Given the description of an element on the screen output the (x, y) to click on. 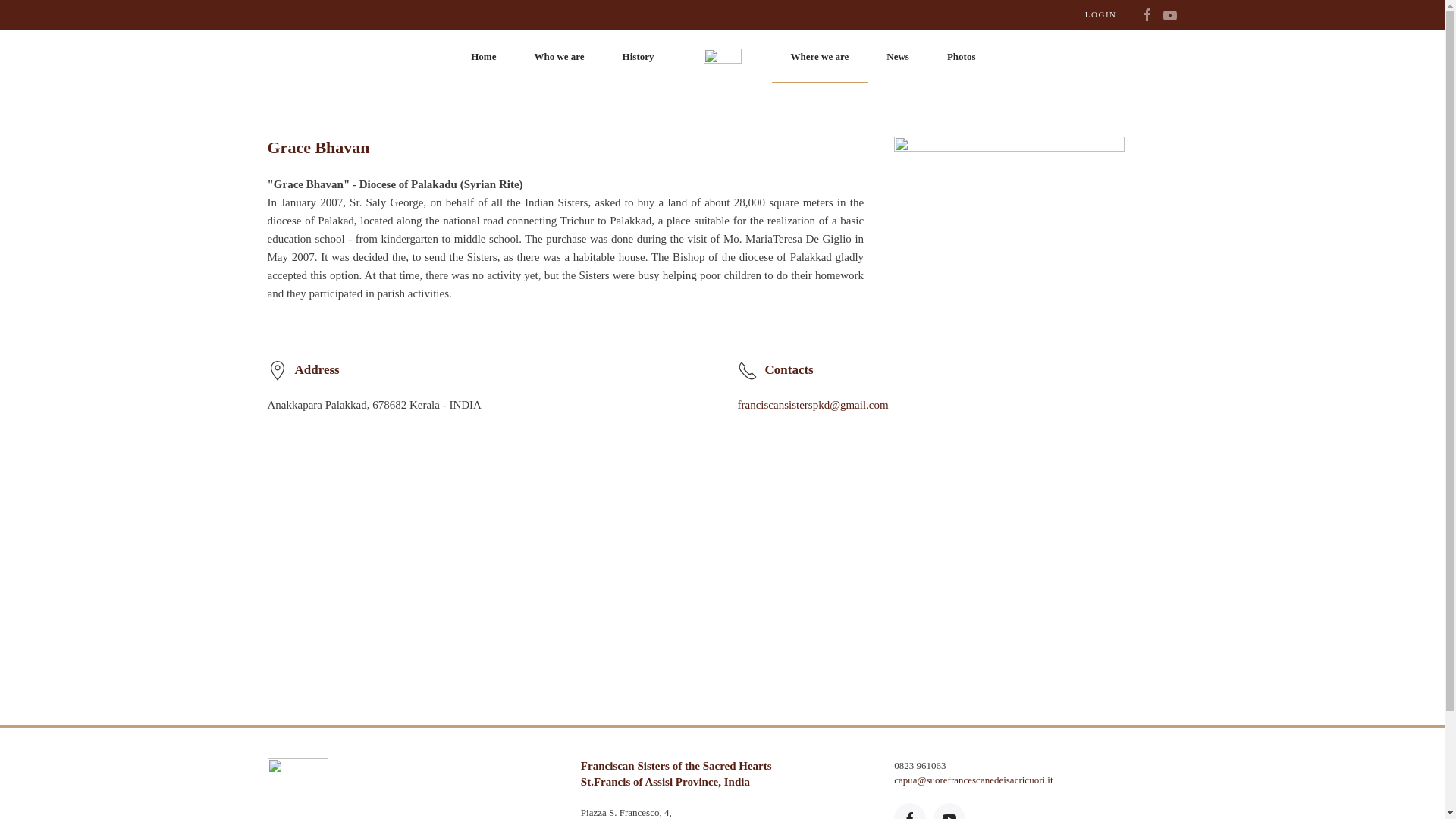
LOGIN (1100, 15)
Who we are (558, 56)
News (897, 56)
Photos (961, 56)
Home (483, 56)
Where we are (819, 56)
History (638, 56)
